Given the description of an element on the screen output the (x, y) to click on. 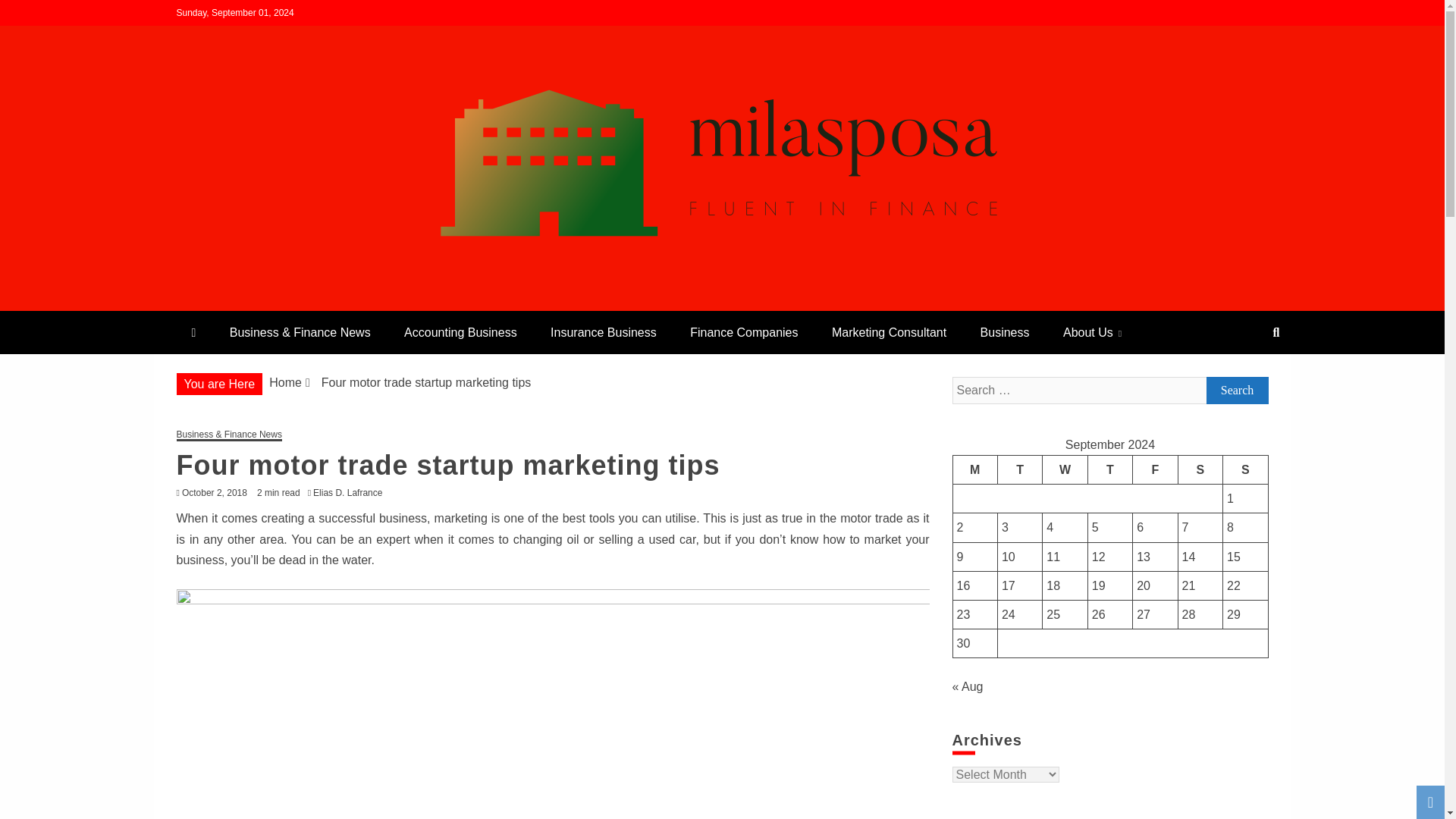
Home (285, 382)
Friday (1154, 469)
Search (1236, 390)
Search (31, 13)
Thursday (1109, 469)
Sunday (1245, 469)
Saturday (1200, 469)
About Us (1092, 332)
Business (1005, 332)
milasposa (245, 304)
